Given the description of an element on the screen output the (x, y) to click on. 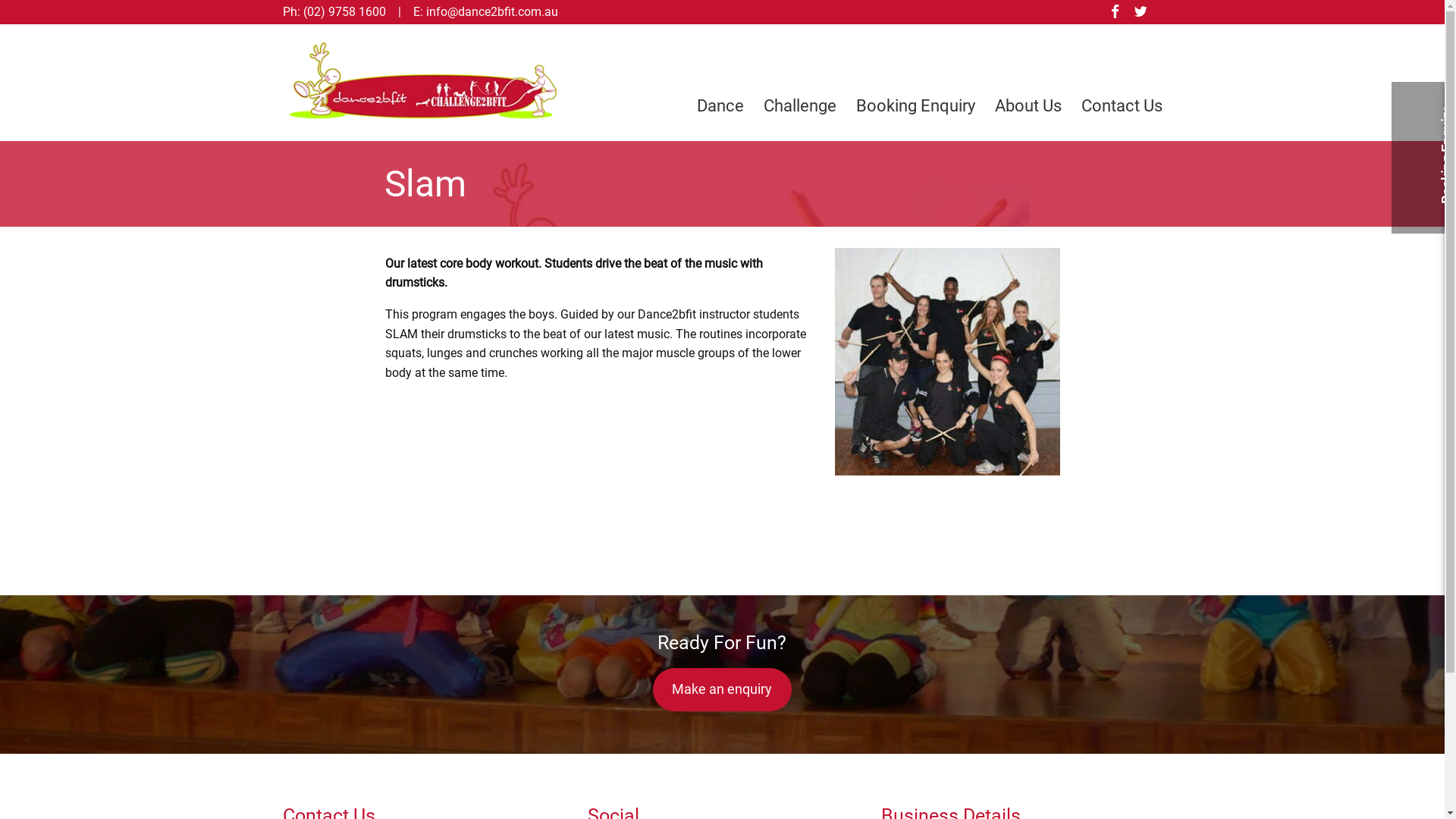
E: info@dance2bfit.com.au Element type: text (484, 11)
Contact Us Element type: text (1116, 106)
Like us on Facebook Element type: hover (1114, 11)
Booking Enquiry Element type: text (915, 106)
Tweet with us on Twitter Element type: hover (1140, 11)
Challenge Element type: text (799, 106)
Dance Element type: text (720, 106)
About Us Element type: text (1027, 106)
home Element type: hover (422, 119)
Make an enquiry Element type: text (721, 689)
Ph: (02) 9758 1600 Element type: text (333, 11)
